Given the description of an element on the screen output the (x, y) to click on. 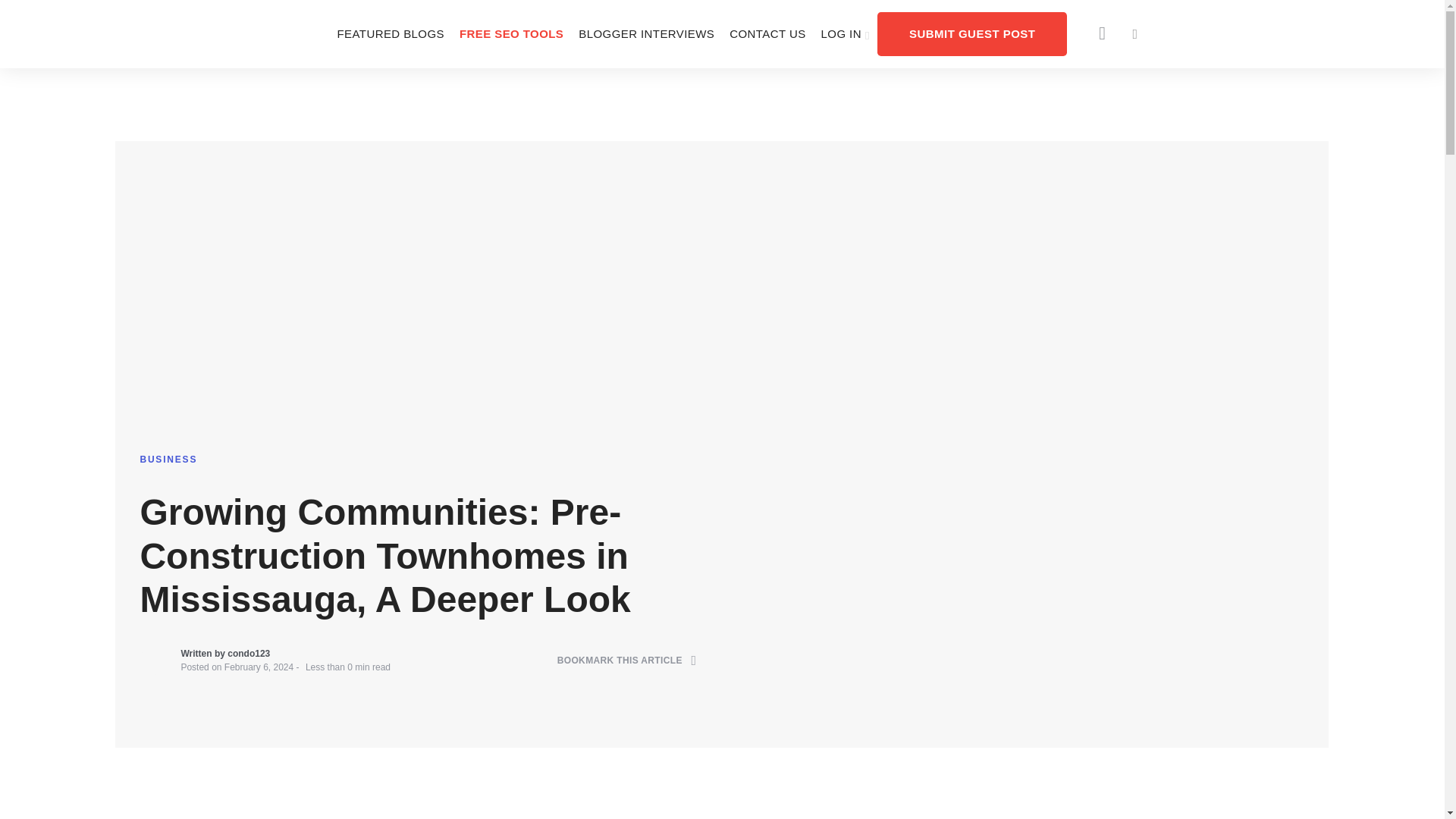
BUSINESS (167, 459)
FREE SEO TOOLS (510, 33)
SUBMIT GUEST POST (972, 33)
SUBMIT GUEST POST (972, 33)
condo123 (248, 653)
CONTACT US (767, 33)
BOOKMARK THIS ARTICLE (627, 660)
CONTACT US (767, 33)
LOG IN (845, 33)
February 6, 2024 (259, 666)
FREE SEO TOOLS (510, 33)
BLOGGER INTERVIEWS (646, 33)
BLOGGER INTERVIEWS (646, 33)
LOG IN (845, 33)
FEATURED BLOGS (390, 33)
